Given the description of an element on the screen output the (x, y) to click on. 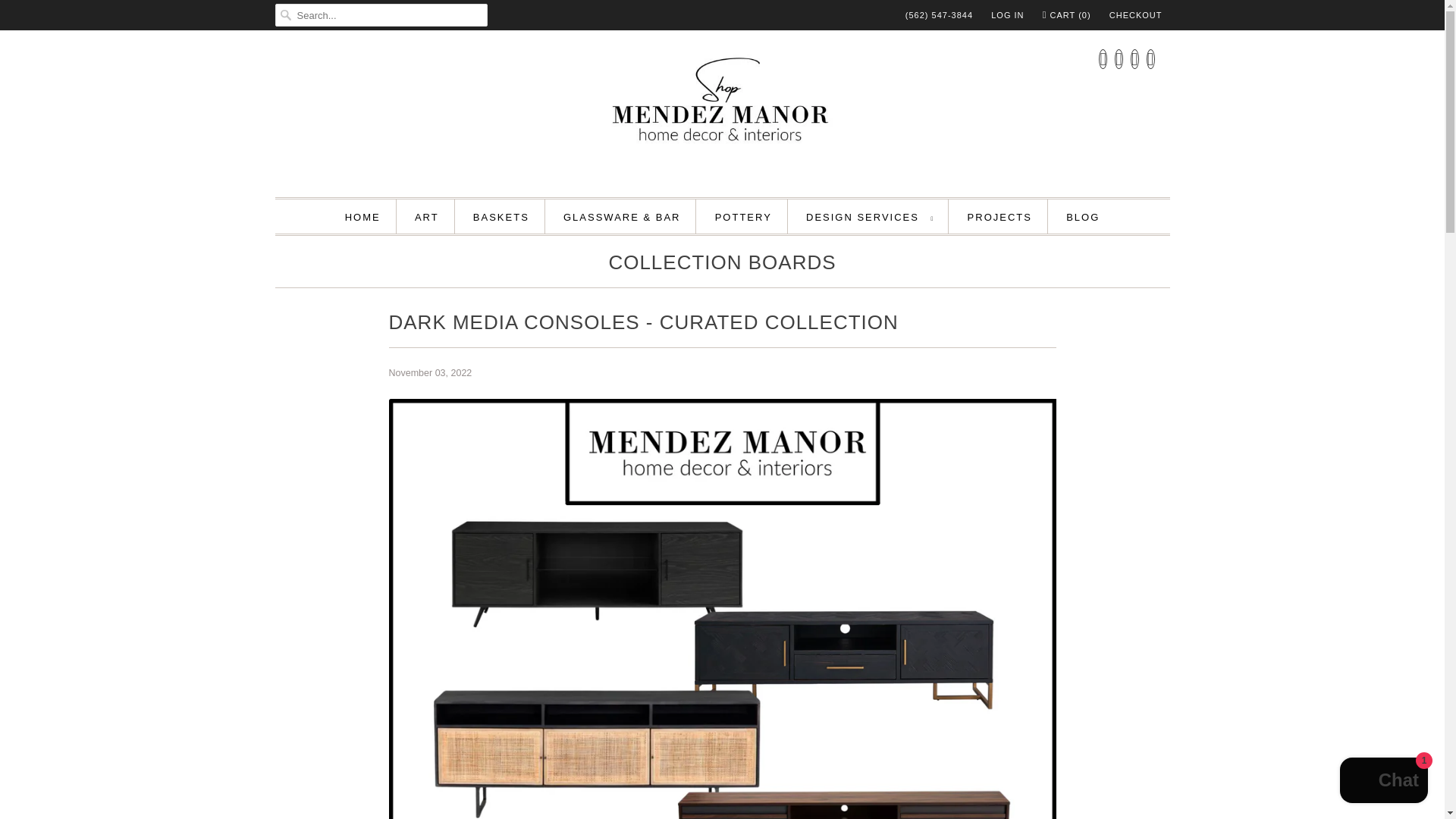
LOG IN (1007, 15)
DESIGN SERVICES  (869, 217)
CHECKOUT (1135, 15)
BASKETS (501, 217)
POTTERY (742, 217)
Mendez Manor (722, 111)
Collection Boards (722, 265)
BLOG (1082, 217)
HOME (362, 217)
COLLECTION BOARDS (722, 265)
ART (426, 217)
PROJECTS (1000, 217)
